Given the description of an element on the screen output the (x, y) to click on. 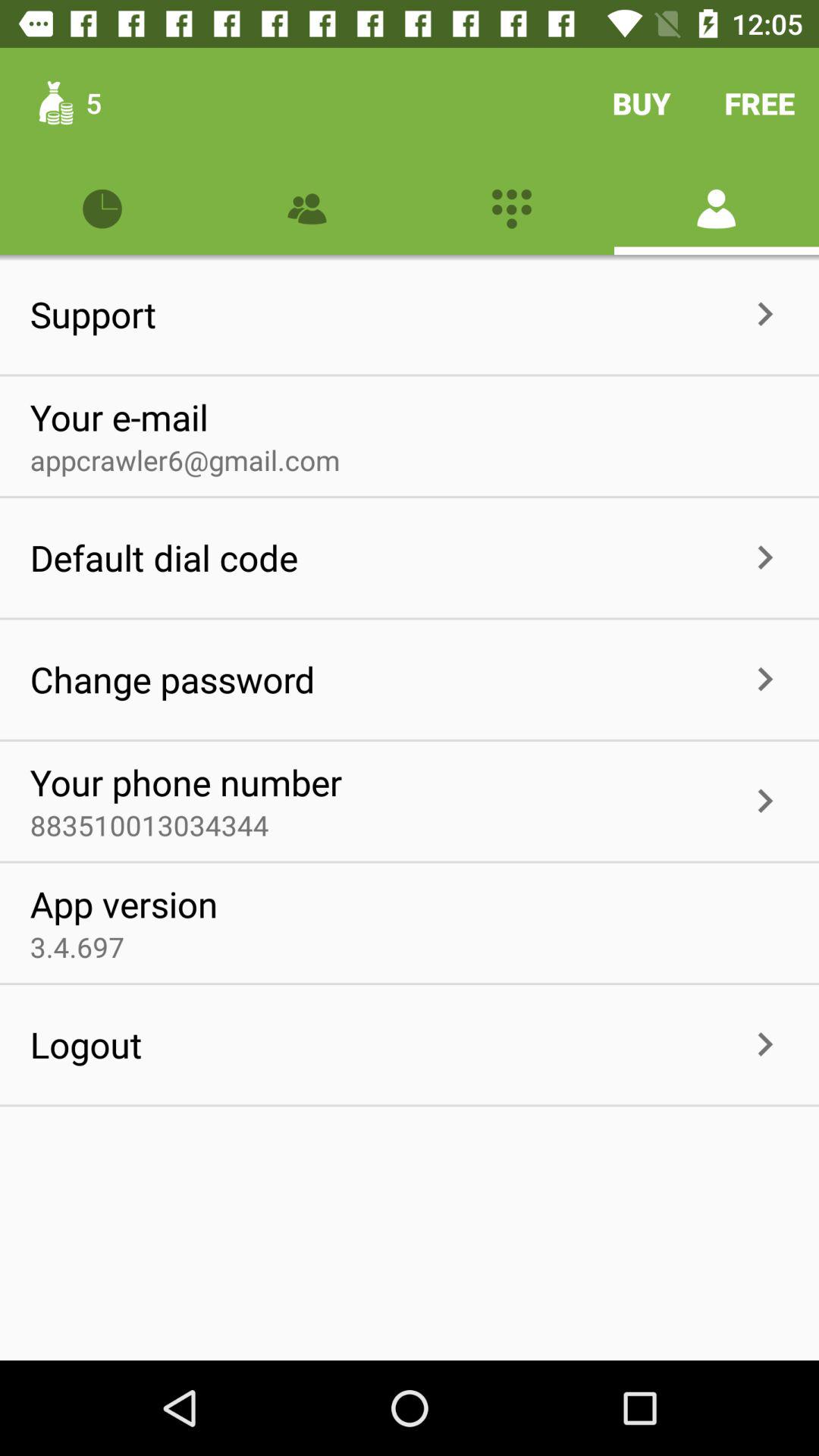
launch the item to the right of support item (448, 314)
